Given the description of an element on the screen output the (x, y) to click on. 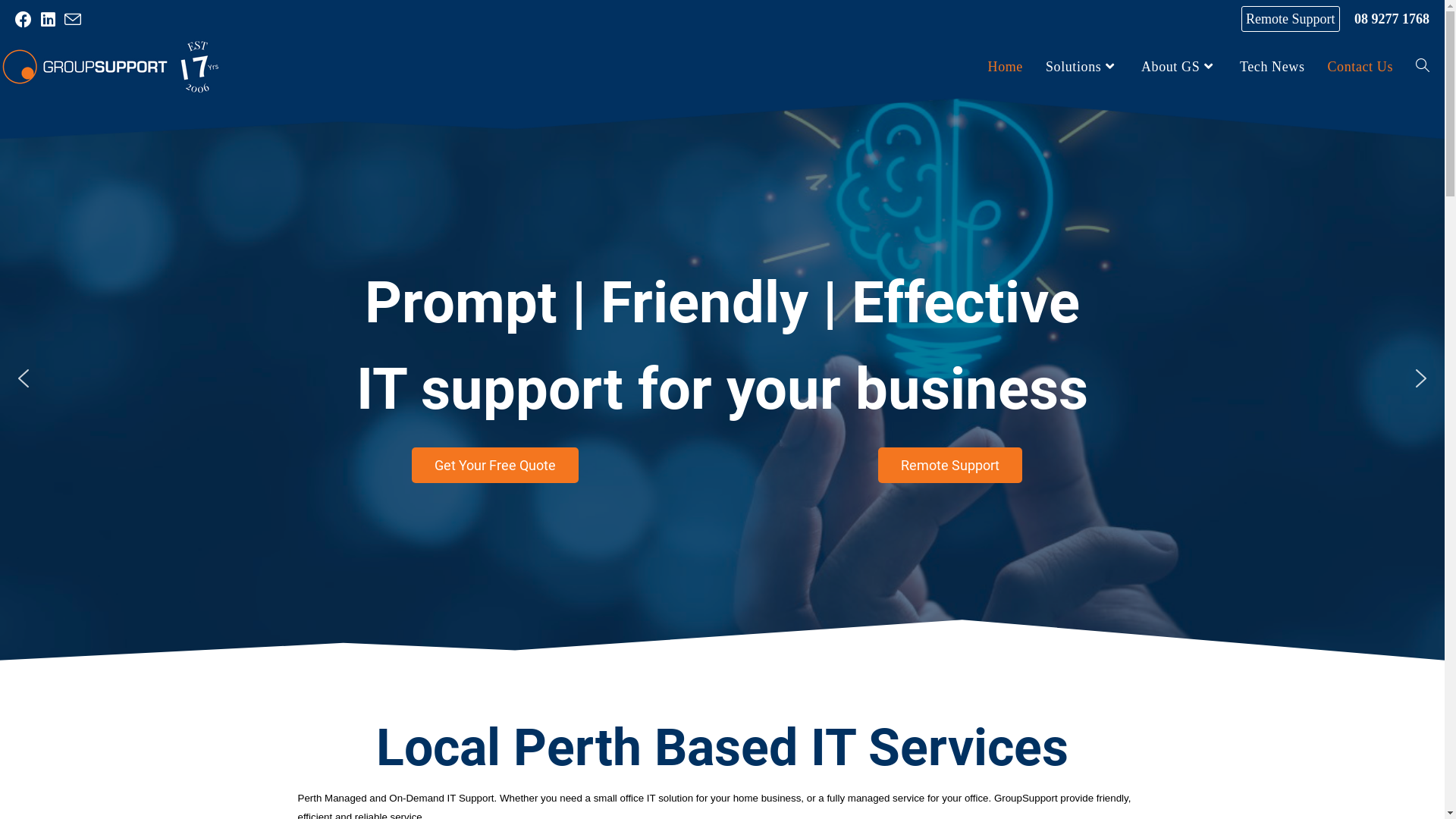
Contact Us Element type: text (1360, 66)
Tech News Element type: text (1272, 66)
08 9277 1768 Element type: text (1391, 18)
Remote Support Element type: text (1297, 17)
Get Your Free Quote Element type: text (494, 465)
Home Element type: text (1005, 66)
Remote Support Element type: text (950, 465)
Solutions Element type: text (1081, 66)
About GS Element type: text (1178, 66)
